Given the description of an element on the screen output the (x, y) to click on. 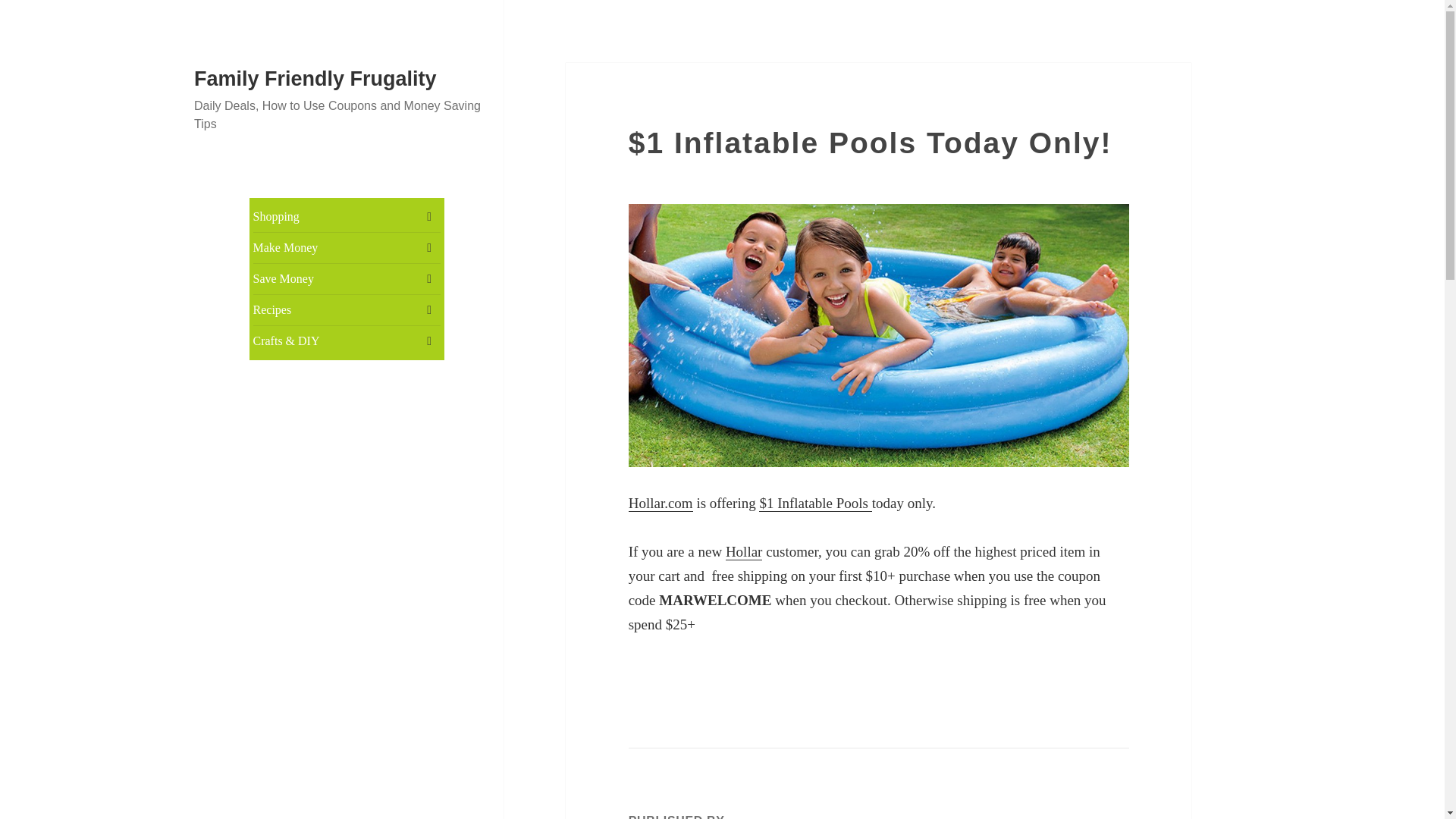
Recipes (347, 309)
Save Money (347, 278)
Shopping (347, 216)
Make Money (347, 247)
Family Friendly Frugality (314, 78)
